Given the description of an element on the screen output the (x, y) to click on. 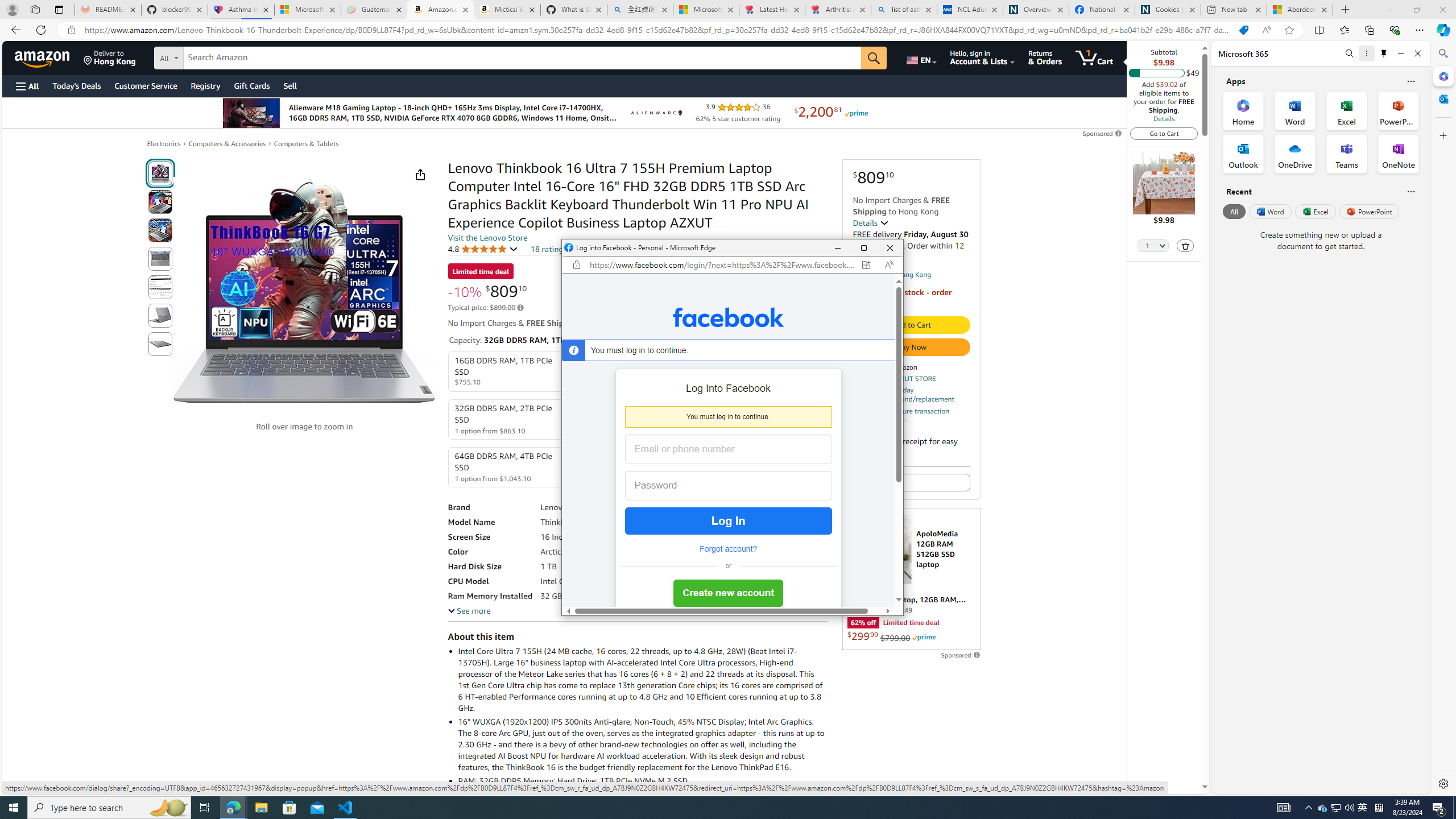
Word (1335, 807)
Choose a language for shopping. (1269, 210)
Search Amazon (920, 57)
Type here to search (522, 57)
All (108, 807)
Deliver to Hong Kong (1233, 210)
Maximize (109, 57)
Gift Cards (863, 248)
